Given the description of an element on the screen output the (x, y) to click on. 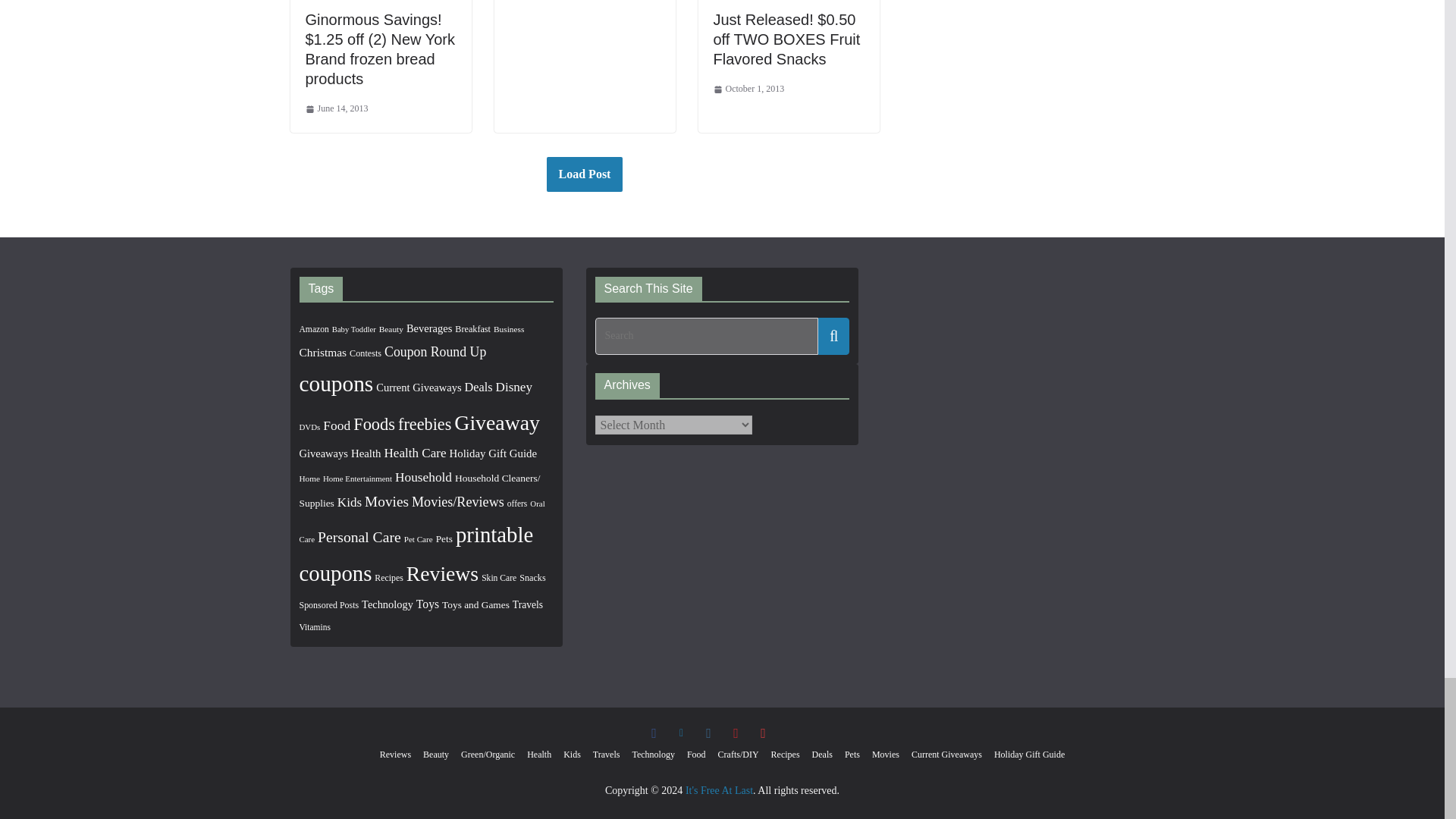
1:58 pm (336, 108)
4:57 am (748, 89)
